Given the description of an element on the screen output the (x, y) to click on. 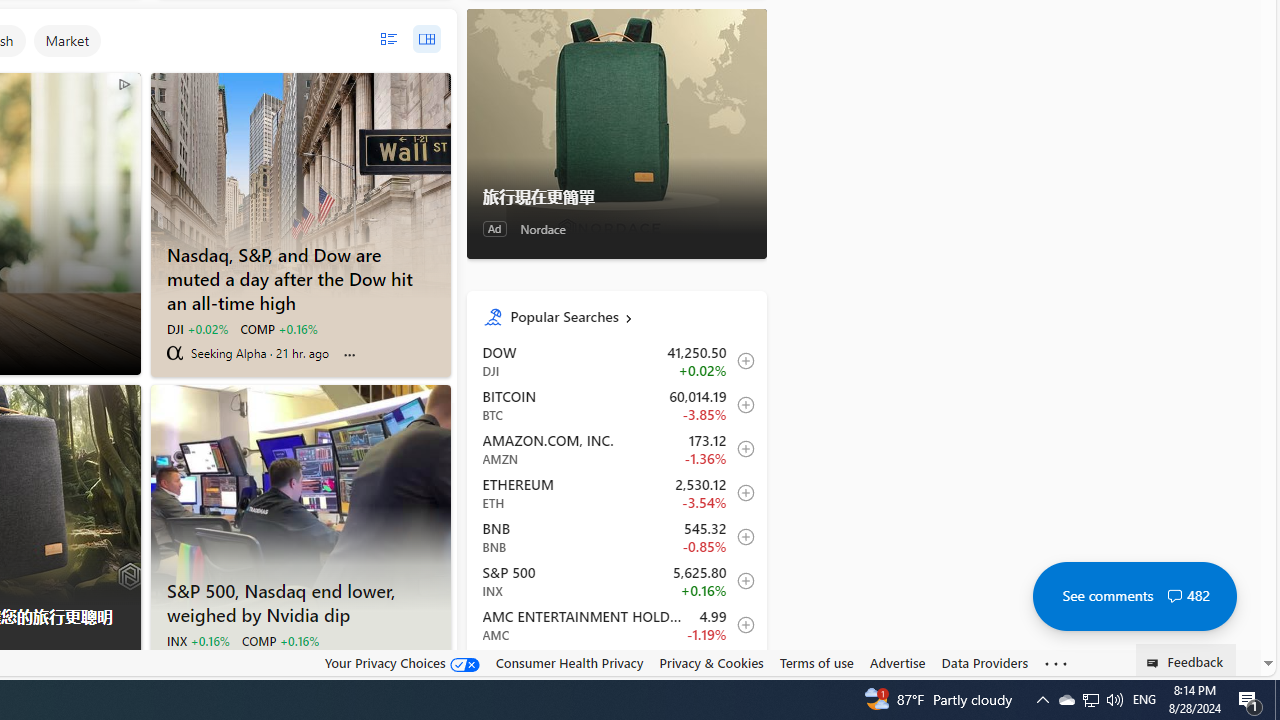
Advertise (897, 663)
Feedback (1186, 659)
INX +0.16% (198, 640)
